Given the description of an element on the screen output the (x, y) to click on. 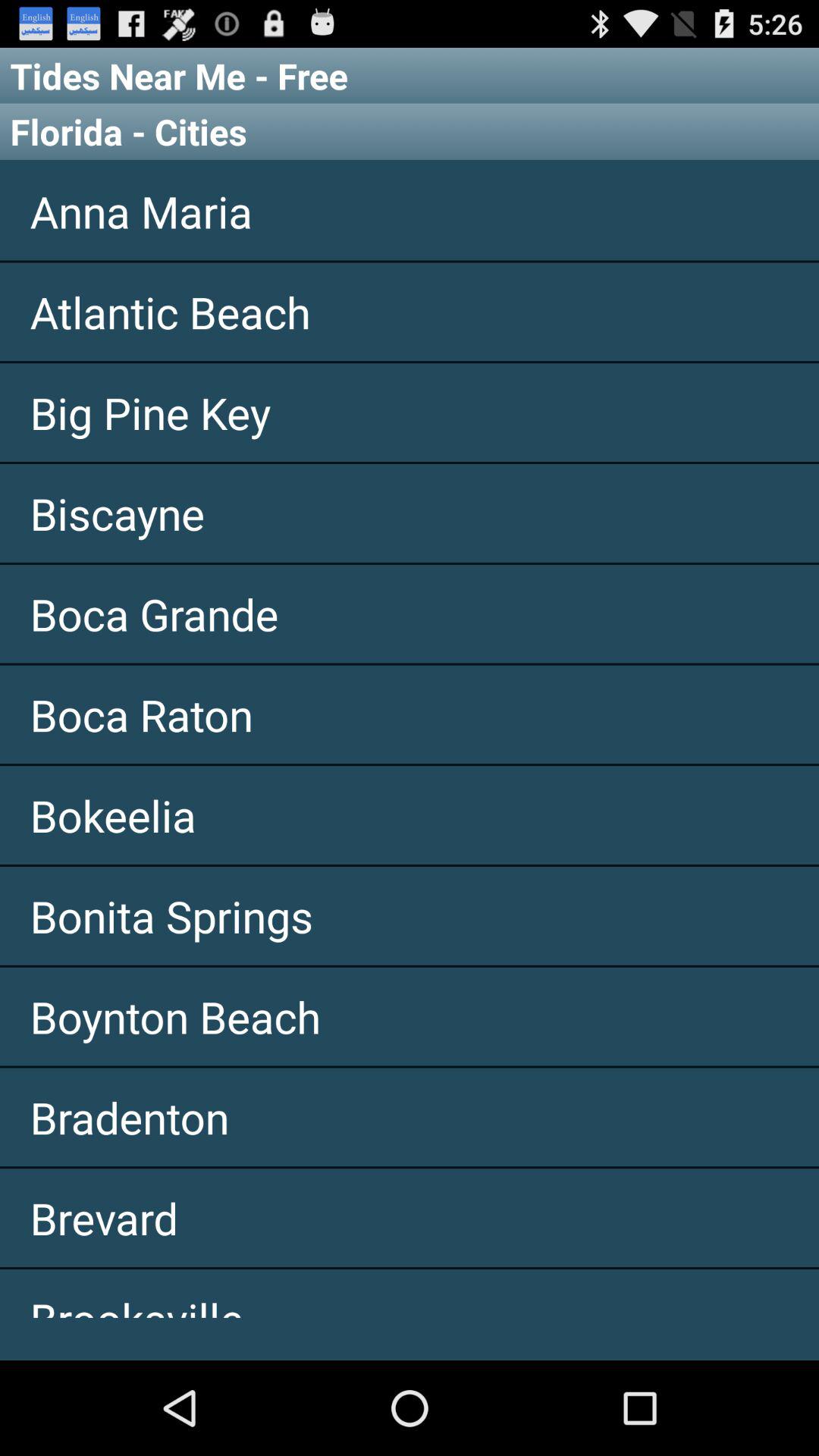
click the atlantic beach app (409, 311)
